Given the description of an element on the screen output the (x, y) to click on. 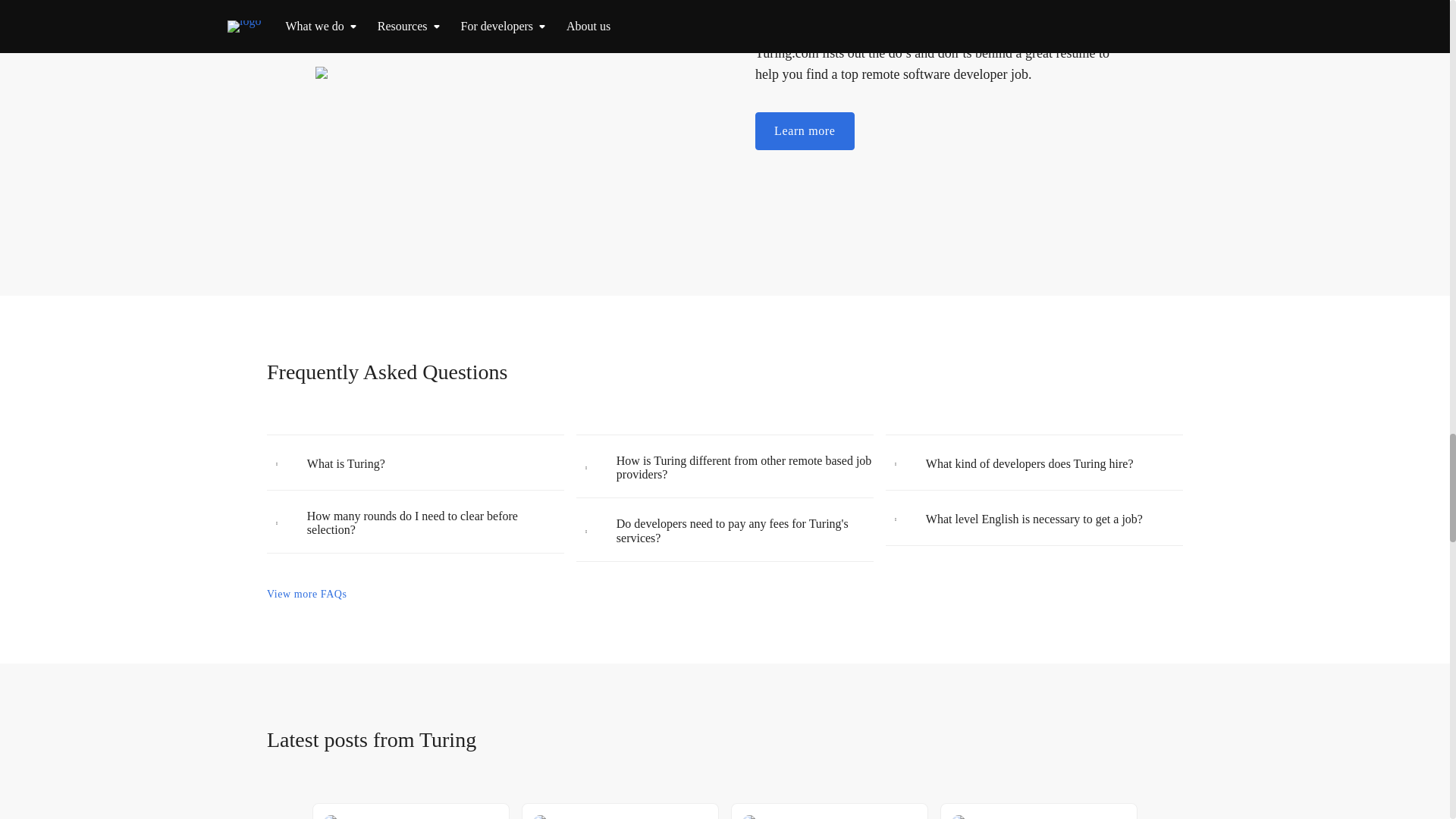
View more FAQs (306, 593)
Learn more (804, 130)
